Given the description of an element on the screen output the (x, y) to click on. 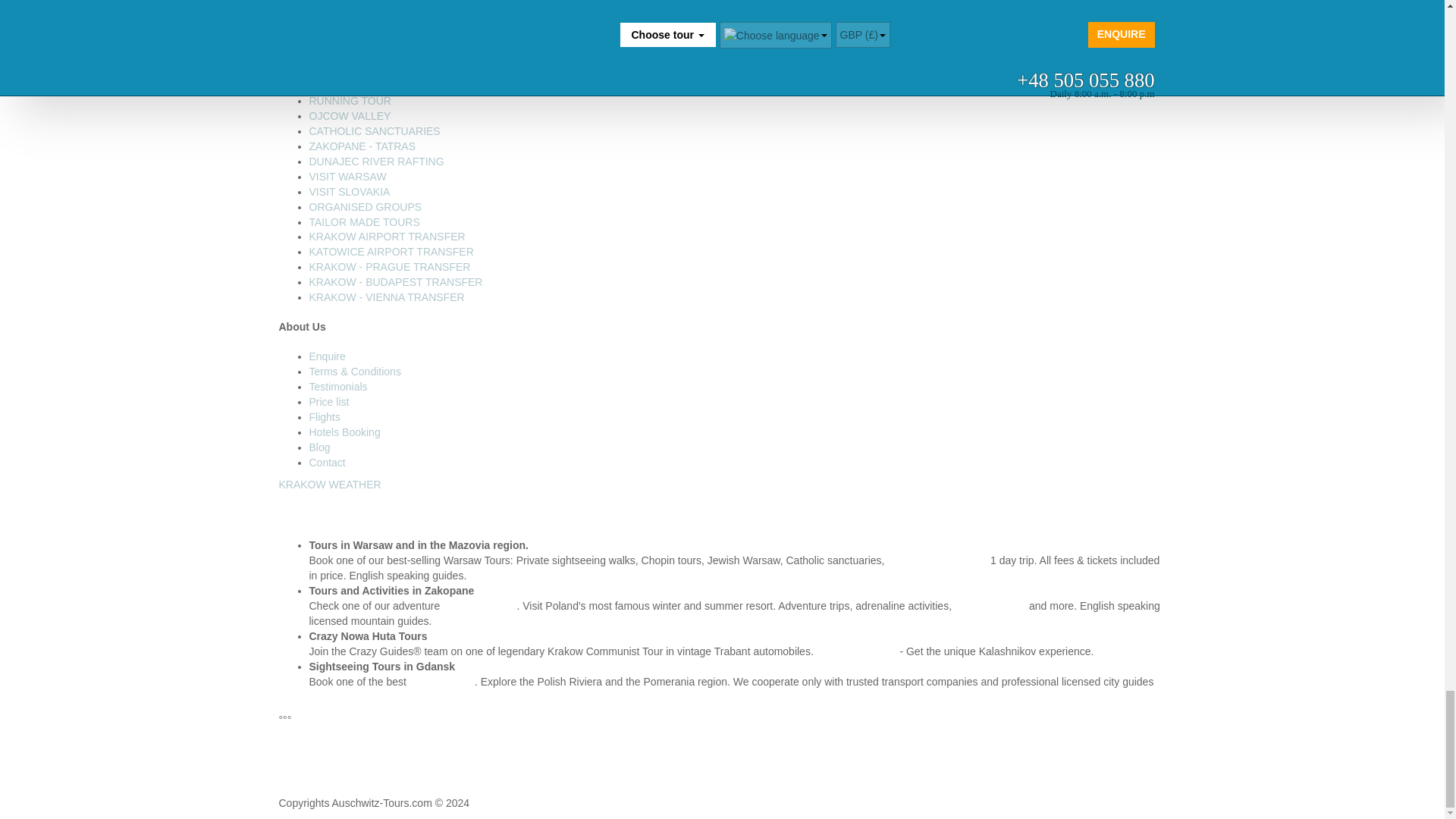
Contuct us (327, 462)
Enquire (327, 356)
Testimonials (338, 386)
Blog (319, 447)
Hotels Booking (344, 431)
Flights (324, 417)
Terms (354, 371)
Pricelist (328, 401)
